Given the description of an element on the screen output the (x, y) to click on. 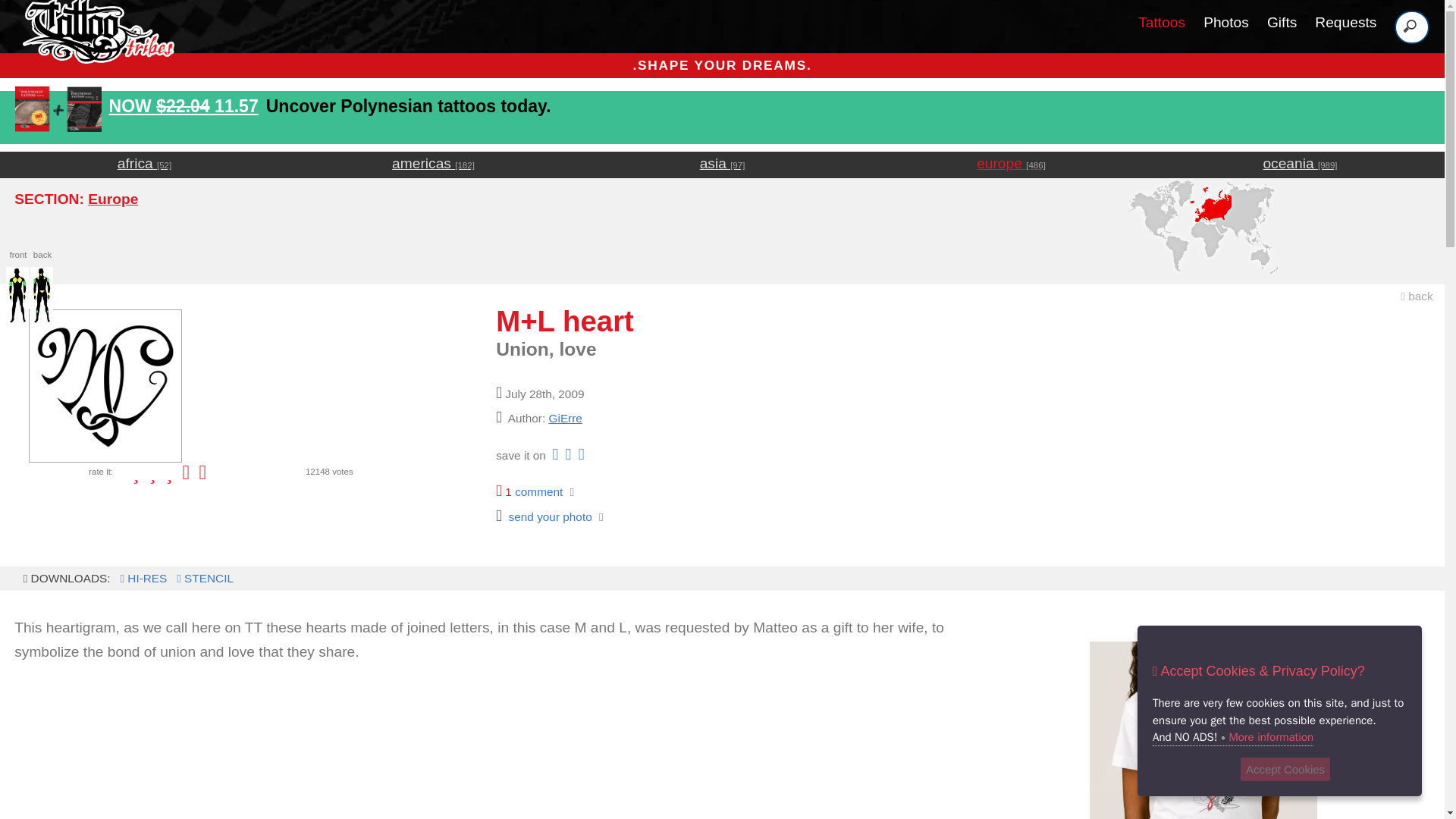
  send your photo (544, 516)
 1 comment (529, 491)
GiErre (565, 418)
Home (94, 53)
  STENCIL (202, 577)
  HI-RES (1202, 730)
Requests (141, 577)
Much Love t-shirt (1344, 22)
Tattoos (1202, 730)
Europe (1161, 22)
Photos (112, 198)
Gifts (1226, 22)
Read the comments on this tattoo (1281, 22)
